Given the description of an element on the screen output the (x, y) to click on. 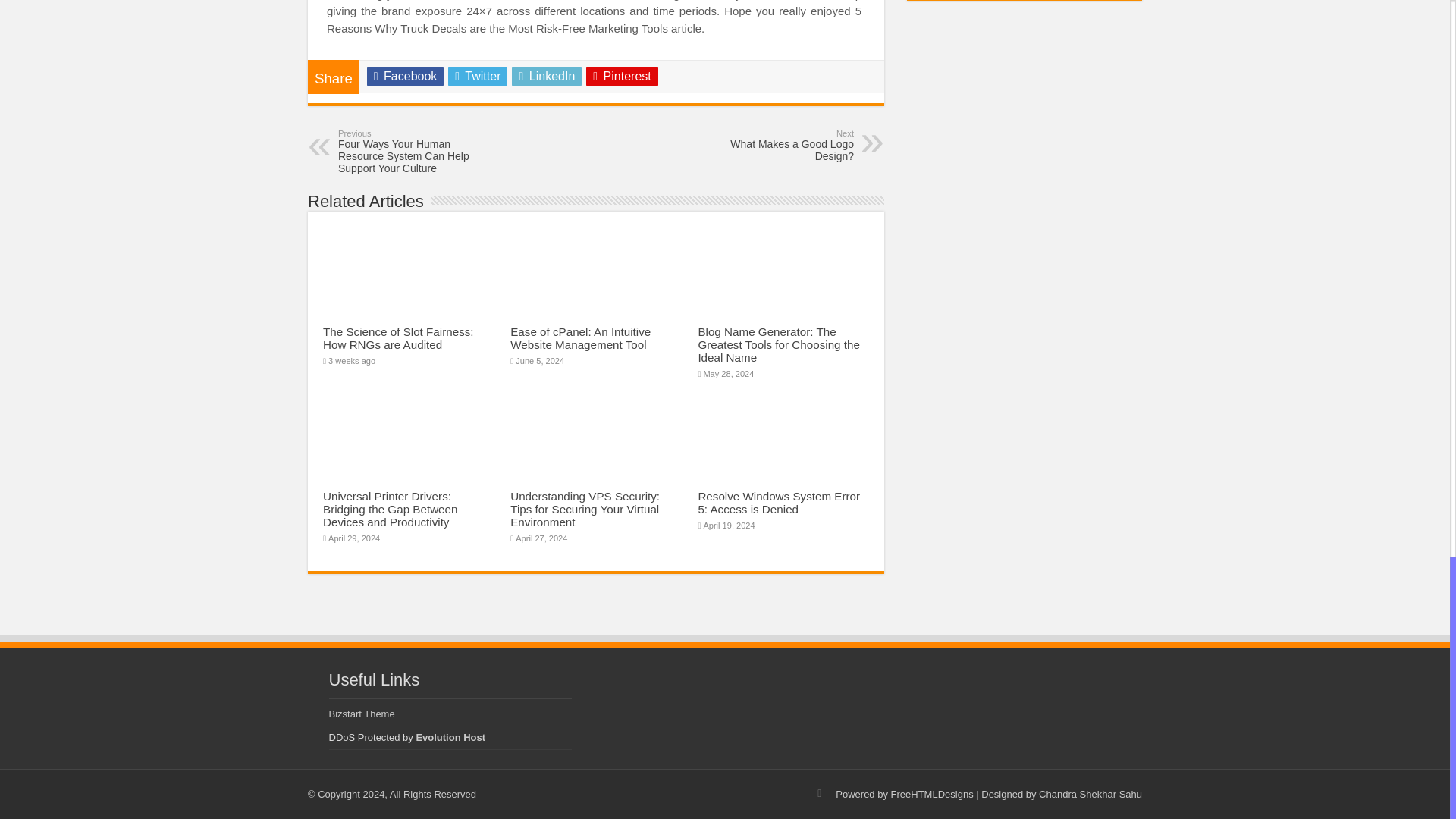
The Science of Slot Fairness: How RNGs are Audited (398, 338)
Twitter (775, 145)
LinkedIn (477, 76)
Facebook (546, 76)
Ease of cPanel: An Intuitive Website Management Tool (405, 76)
Pinterest (580, 338)
